Given the description of an element on the screen output the (x, y) to click on. 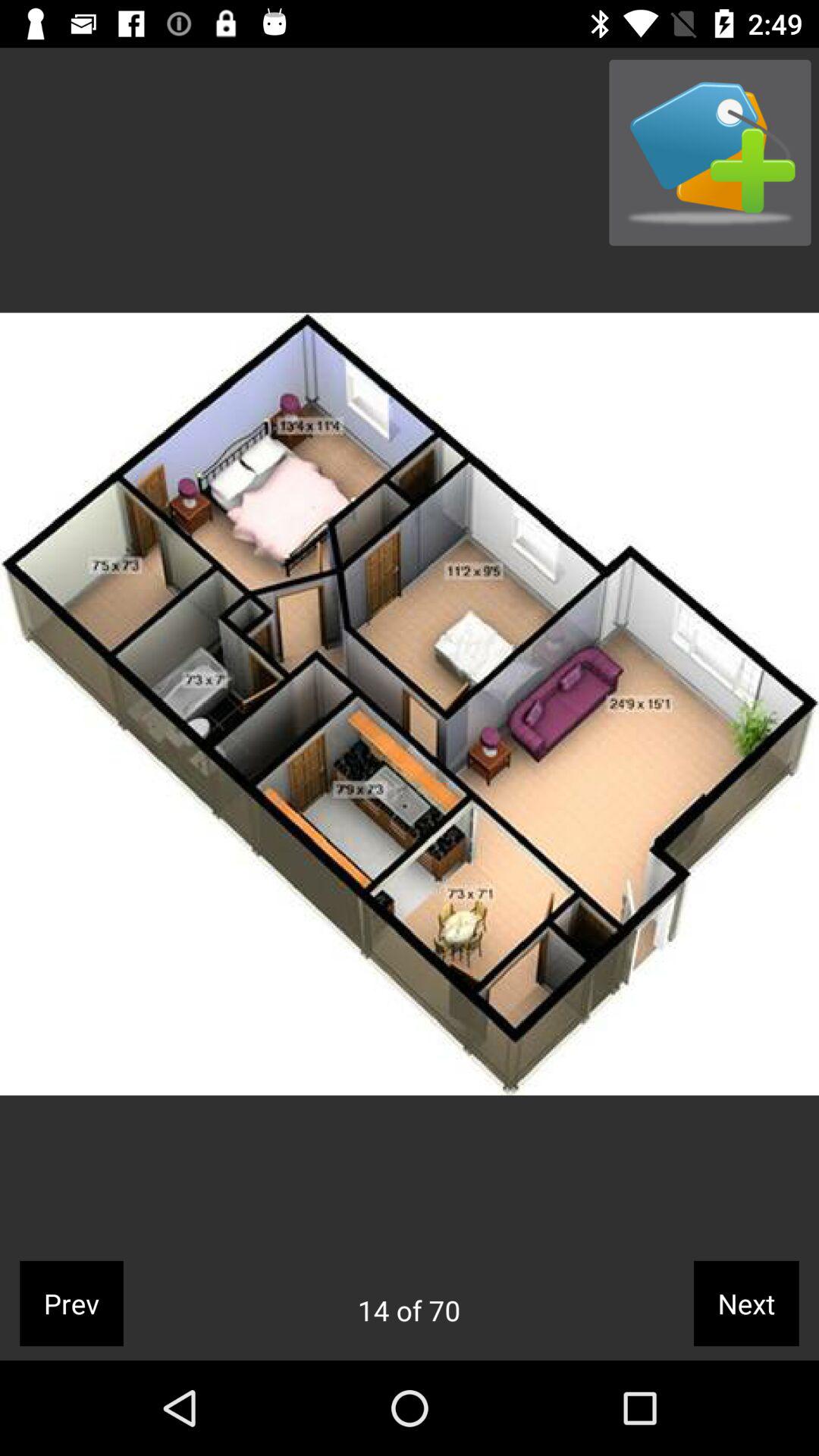
turn on app next to the next icon (408, 1310)
